Given the description of an element on the screen output the (x, y) to click on. 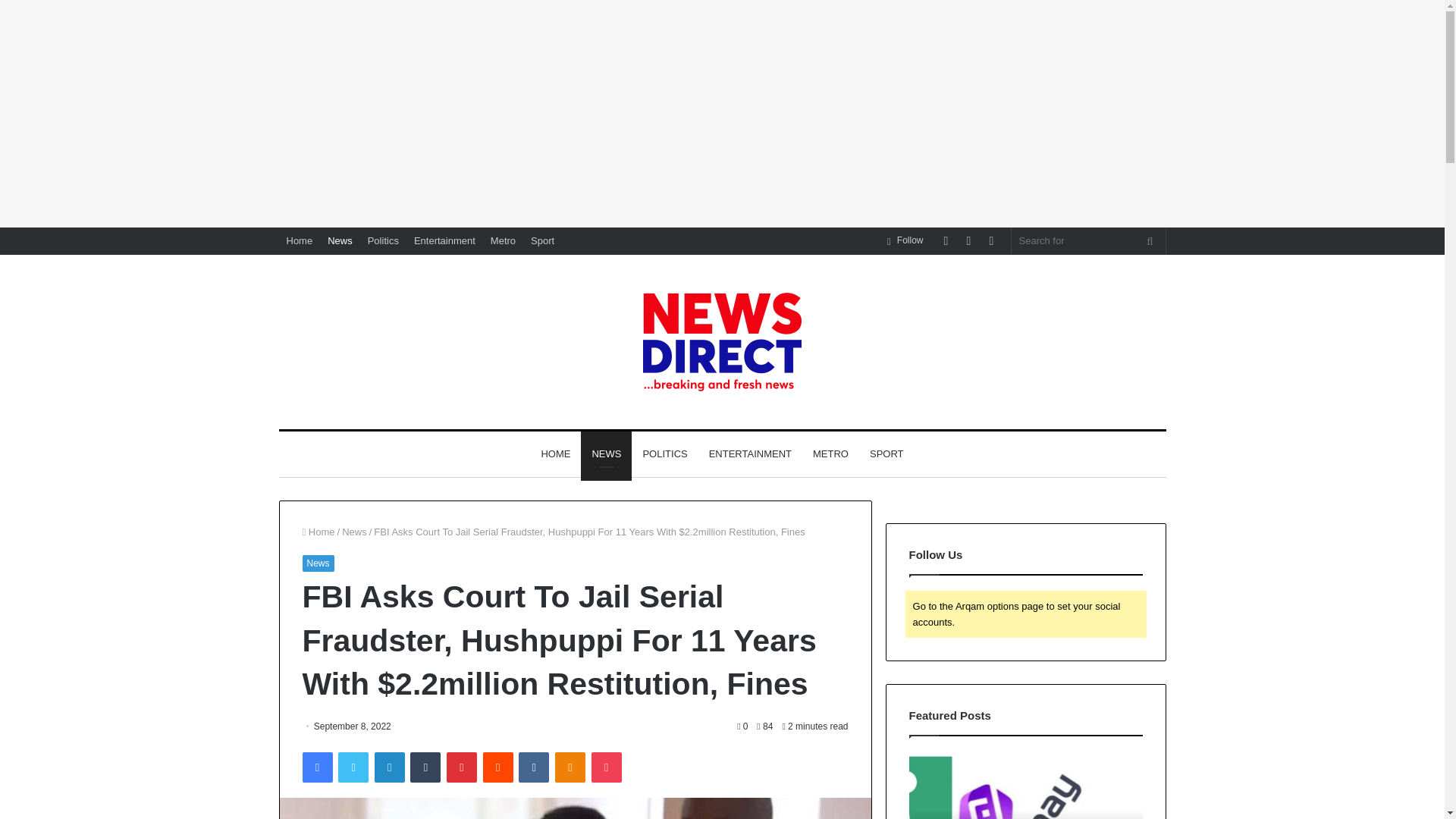
Reddit (498, 767)
METRO (830, 453)
Newsdirect (722, 341)
Search for (1150, 240)
Politics (382, 240)
Search for (1088, 240)
Sport (542, 240)
HOME (554, 453)
Pinterest (461, 767)
LinkedIn (389, 767)
